Given the description of an element on the screen output the (x, y) to click on. 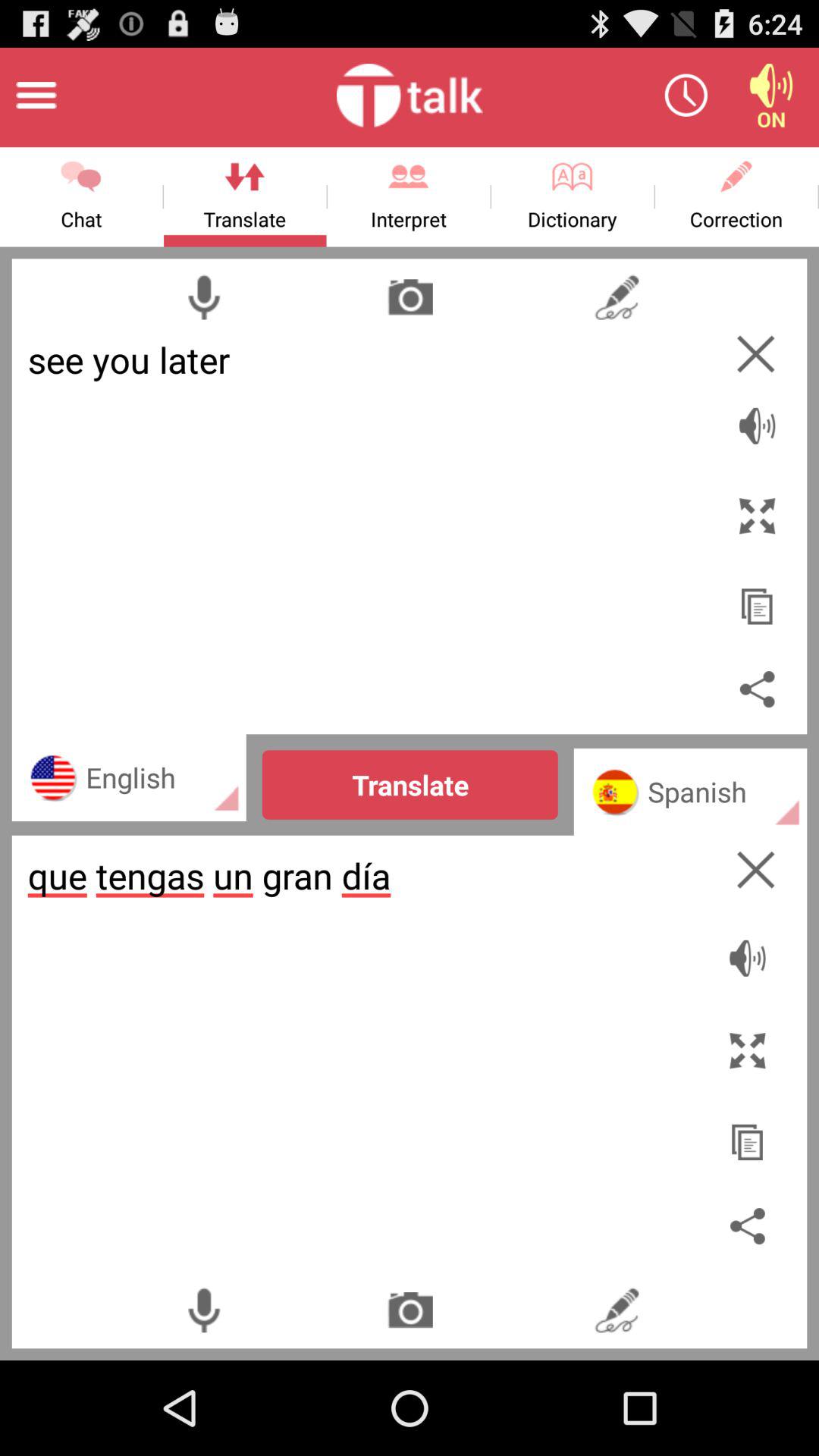
write with pencil (616, 296)
